Given the description of an element on the screen output the (x, y) to click on. 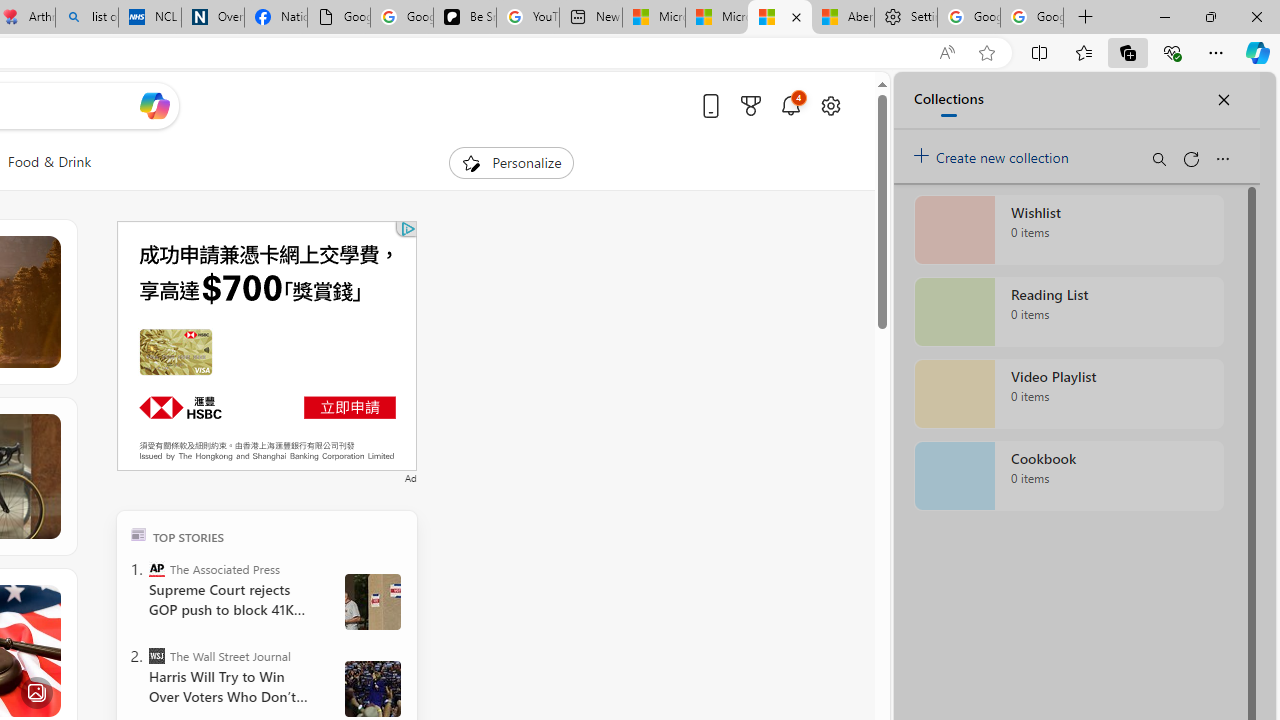
Be Smart | creating Science videos | Patreon (464, 17)
TOP (138, 534)
Aberdeen, Hong Kong SAR hourly forecast | Microsoft Weather (842, 17)
